Given the description of an element on the screen output the (x, y) to click on. 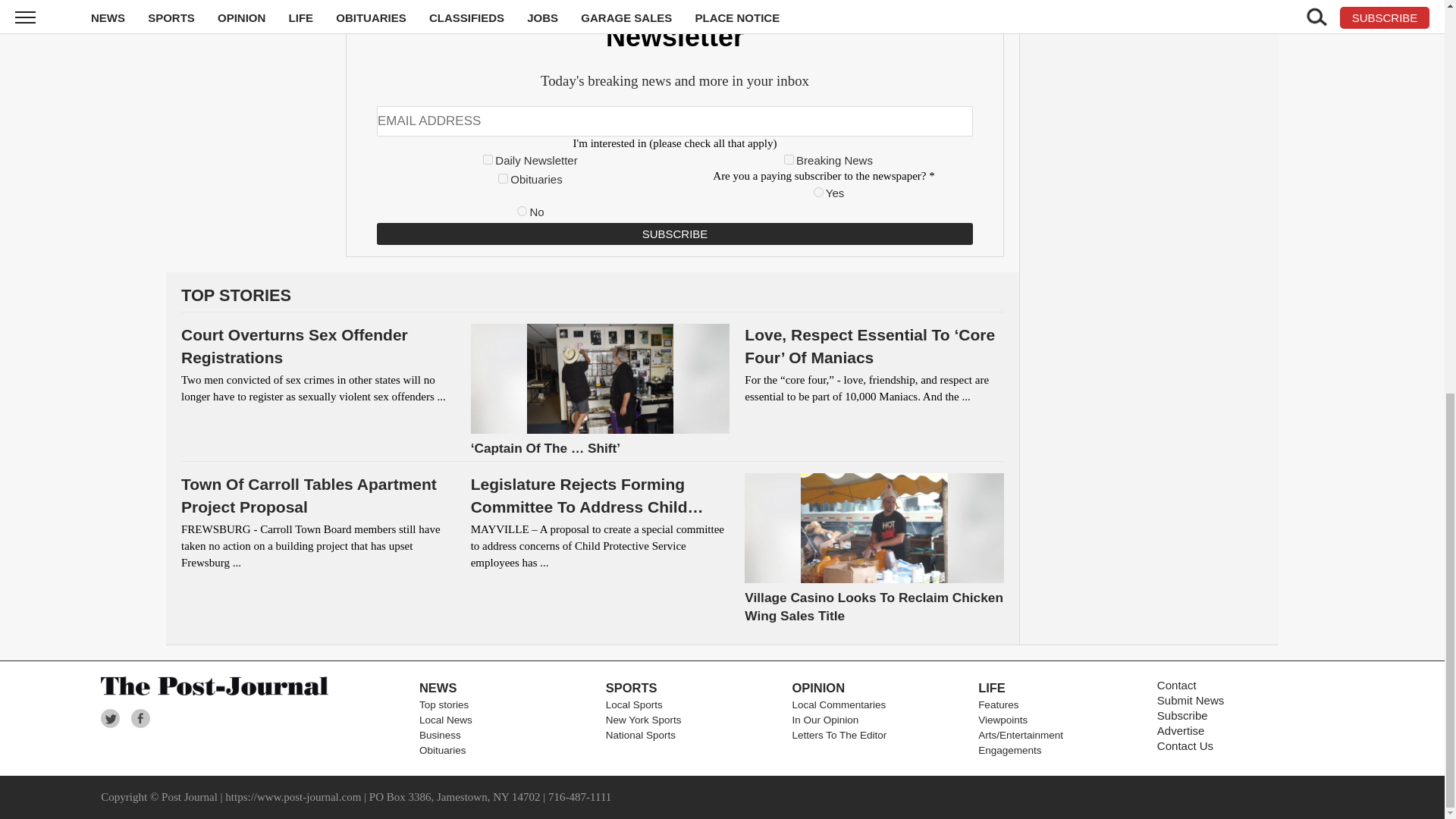
No (521, 211)
1 (488, 159)
Subscribe (674, 233)
2 (788, 159)
Yes (818, 192)
4 (502, 178)
